Given the description of an element on the screen output the (x, y) to click on. 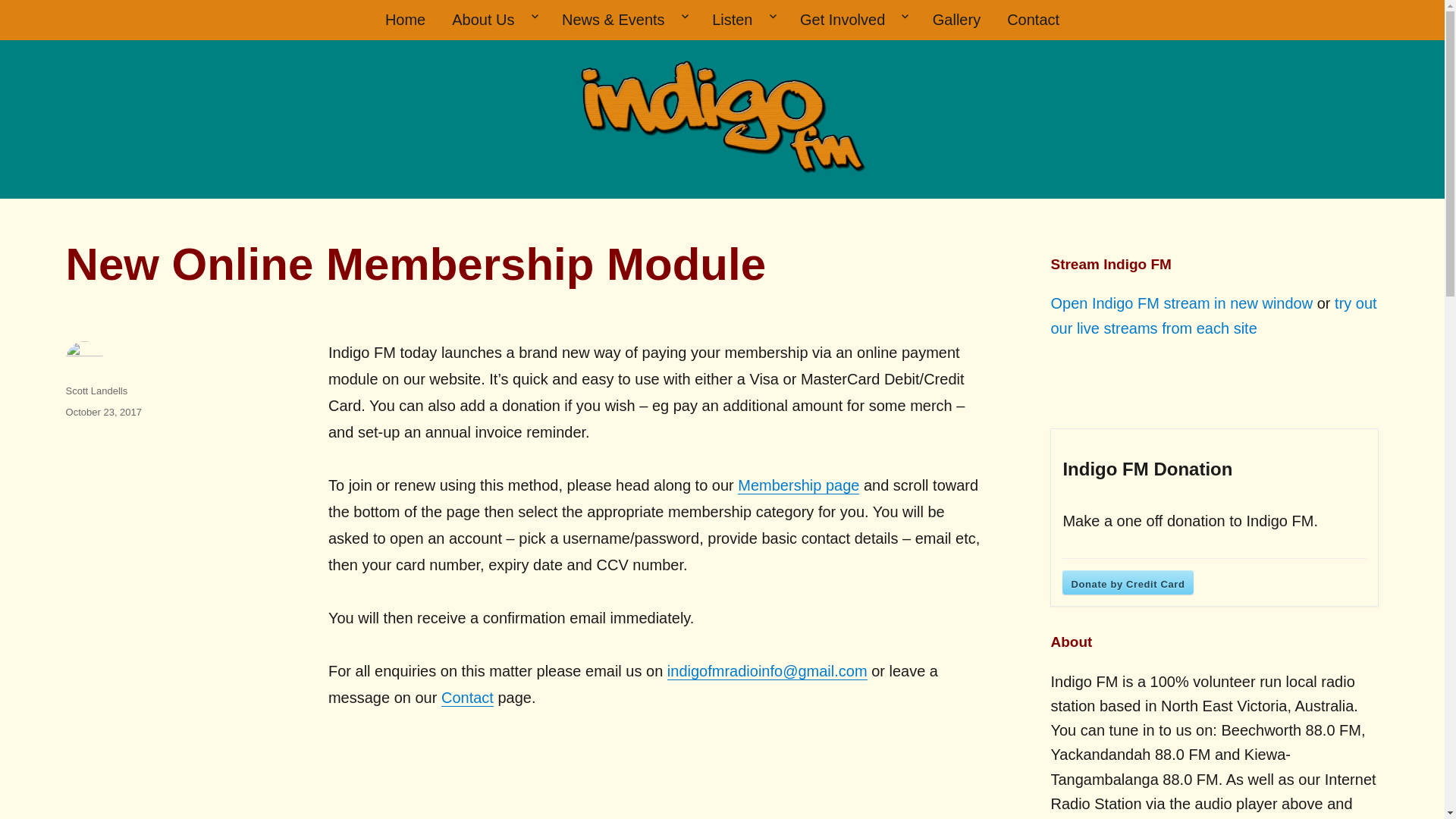
Contact (1033, 20)
Contact (467, 697)
About Us (493, 20)
Membership page (798, 484)
Scott Landells (96, 390)
October 23, 2017 (103, 411)
Get Involved (853, 20)
Gallery (955, 20)
Listen (742, 20)
Home (404, 20)
